Given the description of an element on the screen output the (x, y) to click on. 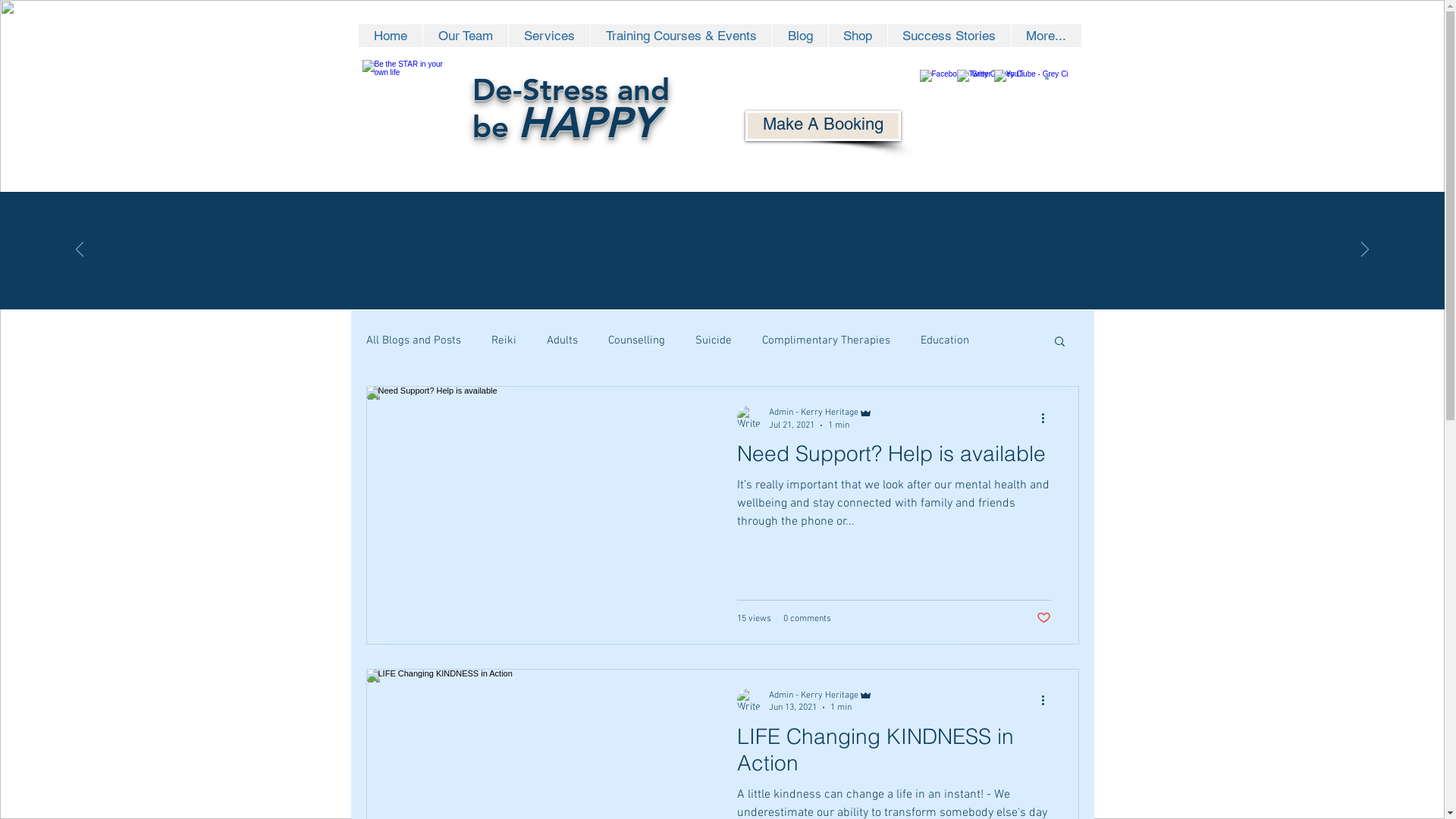
Shop Element type: text (857, 35)
0 Element type: text (1046, 77)
Reiki Element type: text (503, 340)
Services Element type: text (548, 35)
LIFE Changing KINDNESS in Action Element type: text (894, 752)
be HAPPY Element type: text (563, 126)
Home Element type: text (389, 35)
Our Team Element type: text (464, 35)
Make A Booking Element type: text (822, 125)
Admin - Kerry Heritage Element type: text (820, 411)
Adults Element type: text (561, 340)
Education Element type: text (944, 340)
Need Support? Help is available Element type: text (894, 457)
Success Stories Element type: text (948, 35)
DES0001_De-Stress-Logo-Starman_FINAL-RGB.png Element type: hover (405, 105)
Complimentary Therapies Element type: text (825, 340)
Suicide Element type: text (712, 340)
De-Stress and Element type: text (569, 92)
Counselling Element type: text (636, 340)
Post not marked as liked Element type: text (1042, 617)
Training Courses & Events Element type: text (680, 35)
All Blogs and Posts Element type: text (412, 340)
0 comments Element type: text (806, 617)
Blog Element type: text (799, 35)
Admin - Kerry Heritage Element type: text (820, 694)
